Given the description of an element on the screen output the (x, y) to click on. 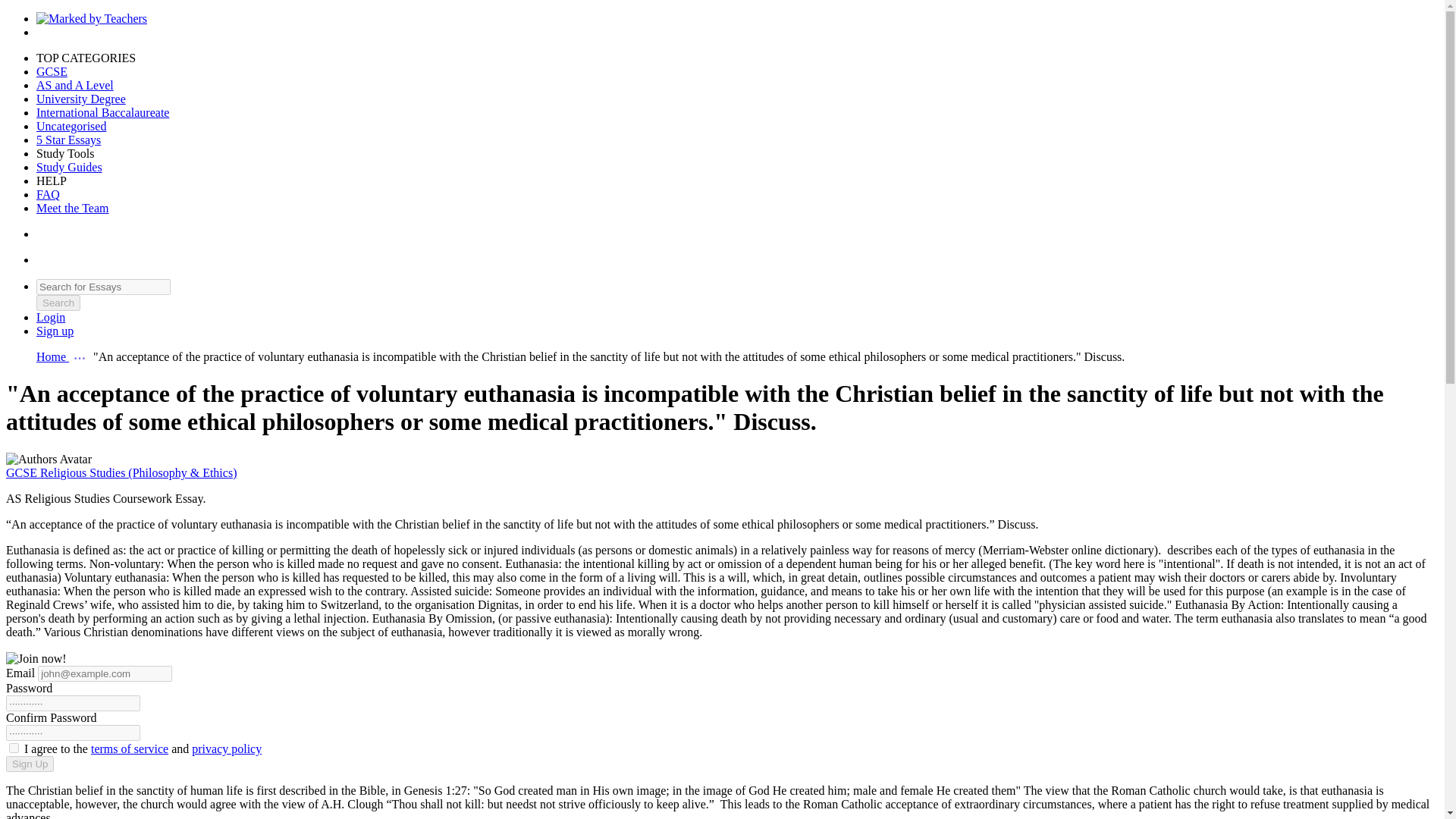
GCSE (51, 71)
privacy policy (227, 748)
Study Guides (68, 166)
Meet the Team (71, 207)
Sign up (55, 330)
GCSE (22, 472)
University Degree (80, 98)
AS and A Level (74, 84)
FAQ (47, 194)
Home (52, 356)
